Given the description of an element on the screen output the (x, y) to click on. 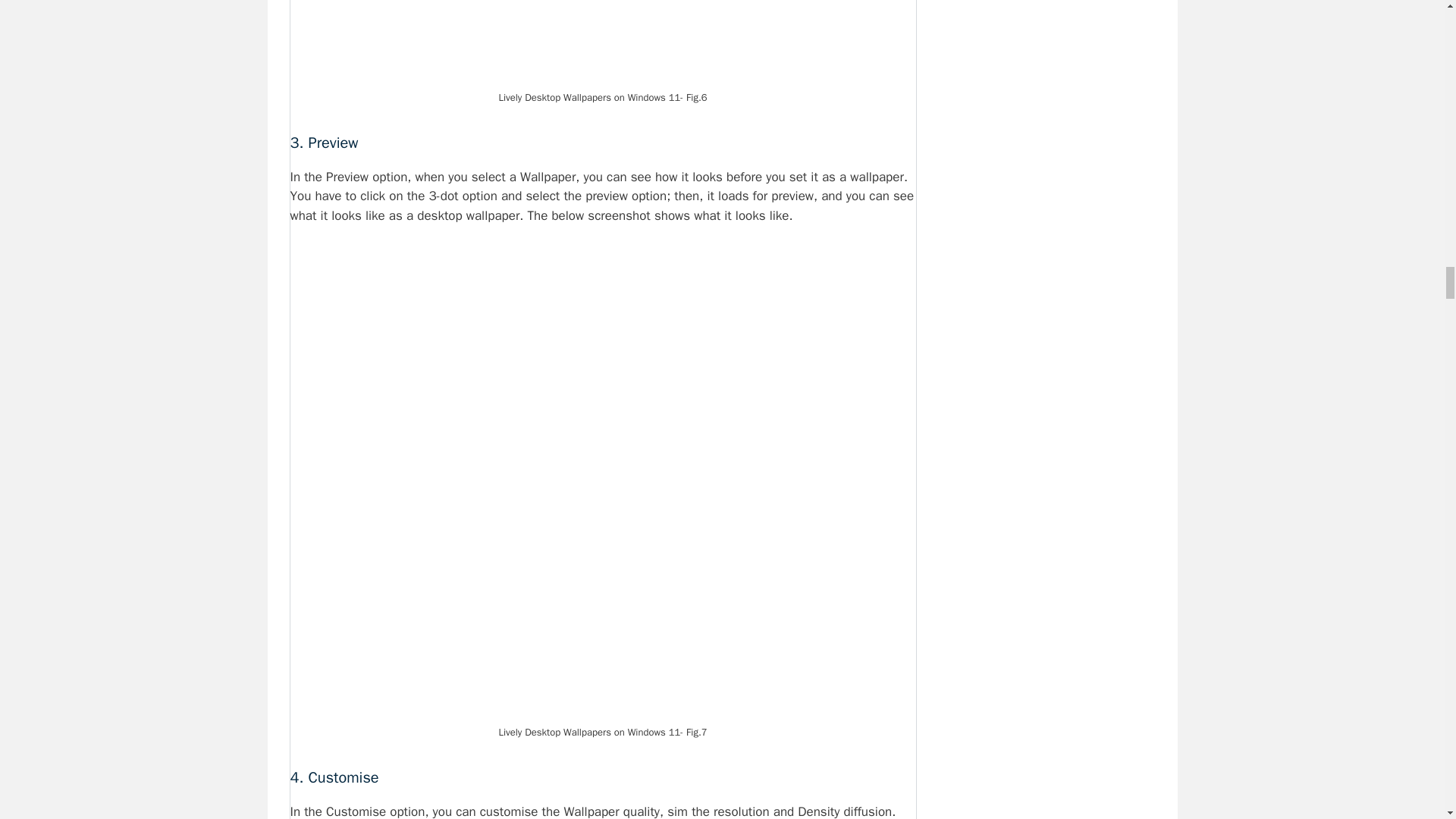
Lively Desktop Wallpapers on Windows 11 7 (602, 42)
